Given the description of an element on the screen output the (x, y) to click on. 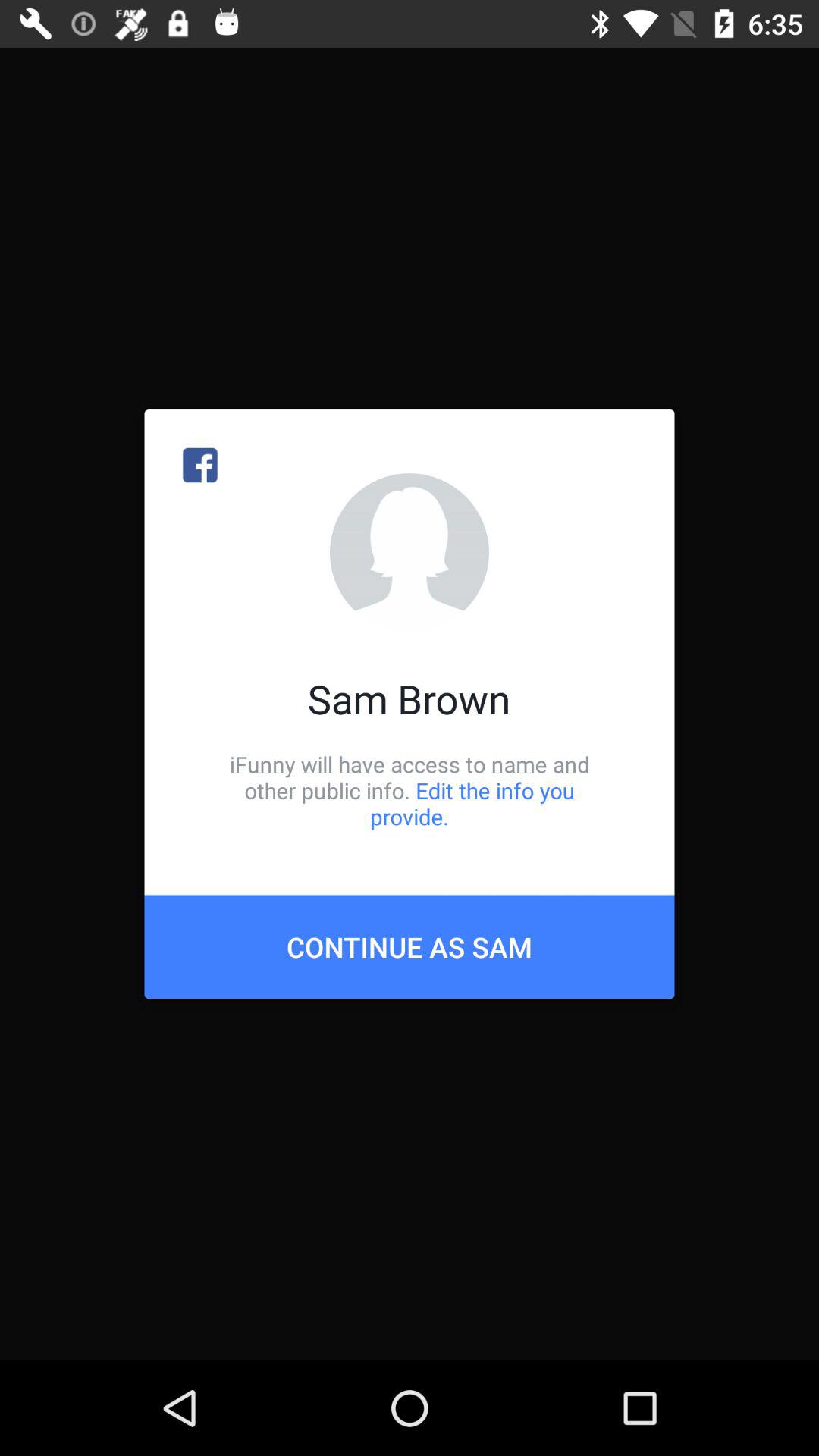
select the item below the sam brown (409, 790)
